Given the description of an element on the screen output the (x, y) to click on. 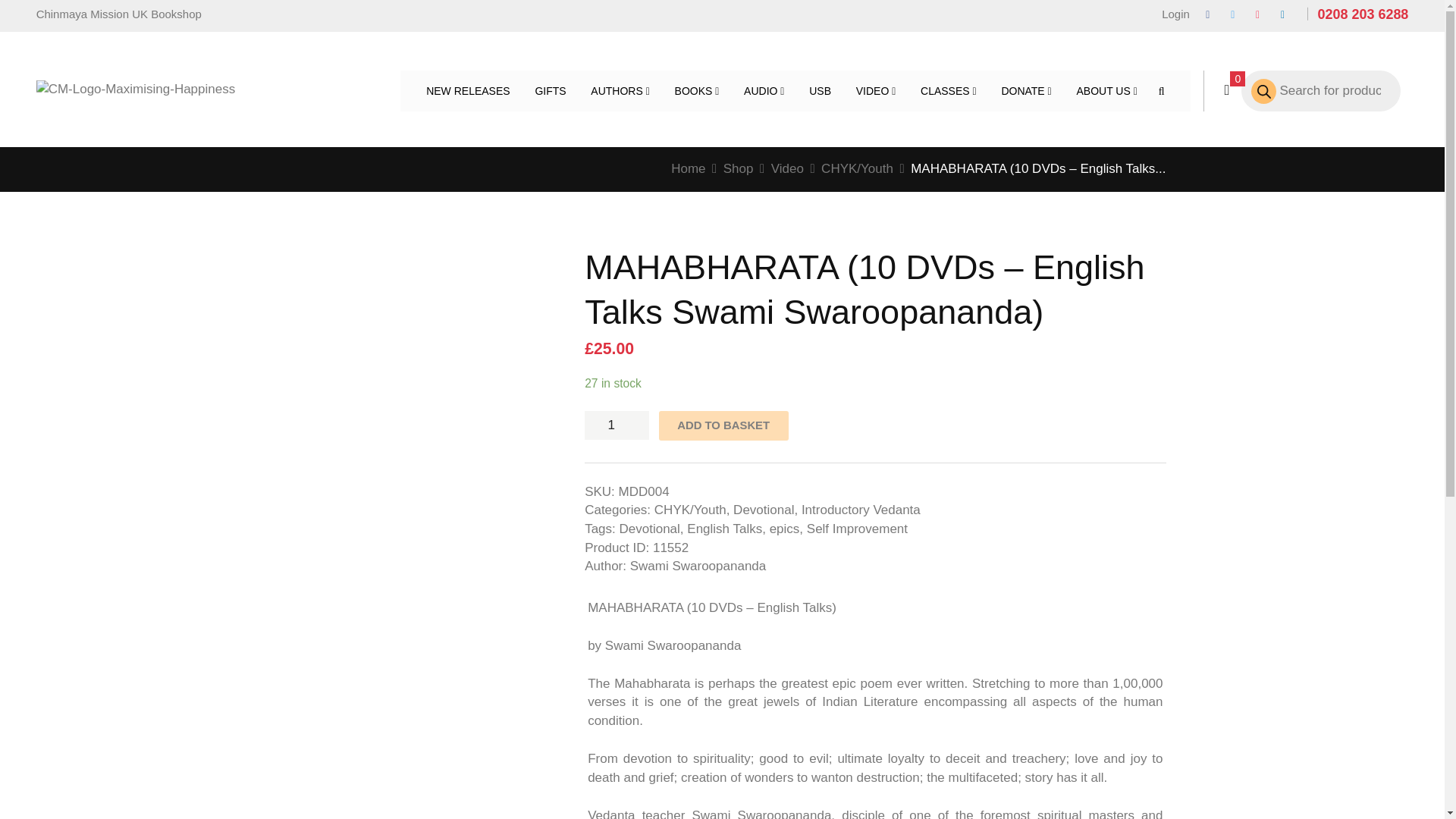
1 (617, 425)
NEW RELEASES (466, 90)
Qty (617, 425)
BOOKS (696, 90)
AUTHORS (619, 90)
GIFTS (550, 90)
Login (1170, 15)
0208 203 6288 (1362, 14)
